Given the description of an element on the screen output the (x, y) to click on. 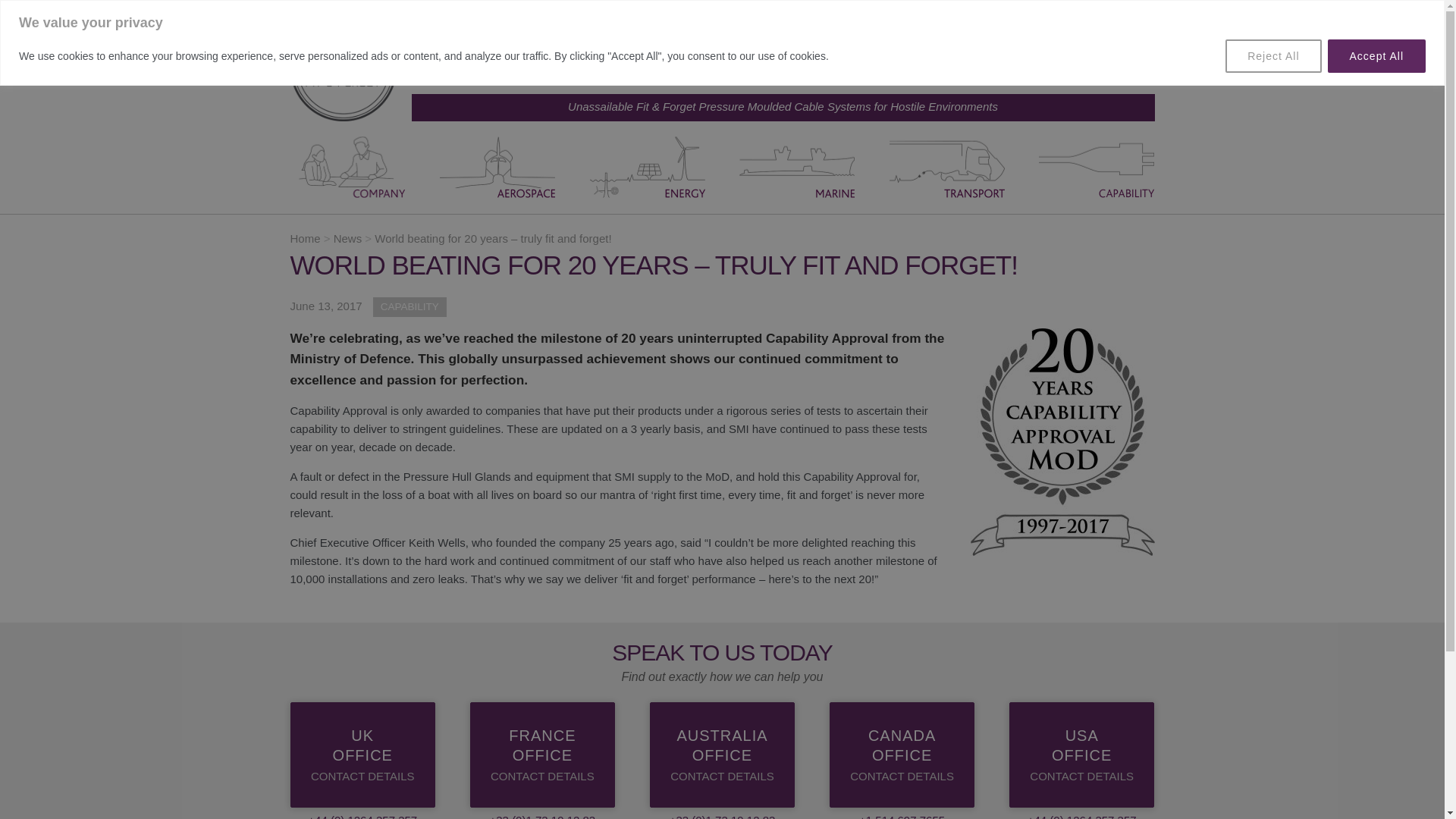
Accept All (1376, 55)
Contact Us (1017, 51)
Go to the News category archives. (347, 237)
UK (962, 51)
Go to SMI (304, 237)
Twitter (1129, 33)
Reject All (1272, 55)
SMI: Manufacturers of pressure moulded cable systems (342, 68)
Insights (1074, 51)
UK (962, 51)
